Given the description of an element on the screen output the (x, y) to click on. 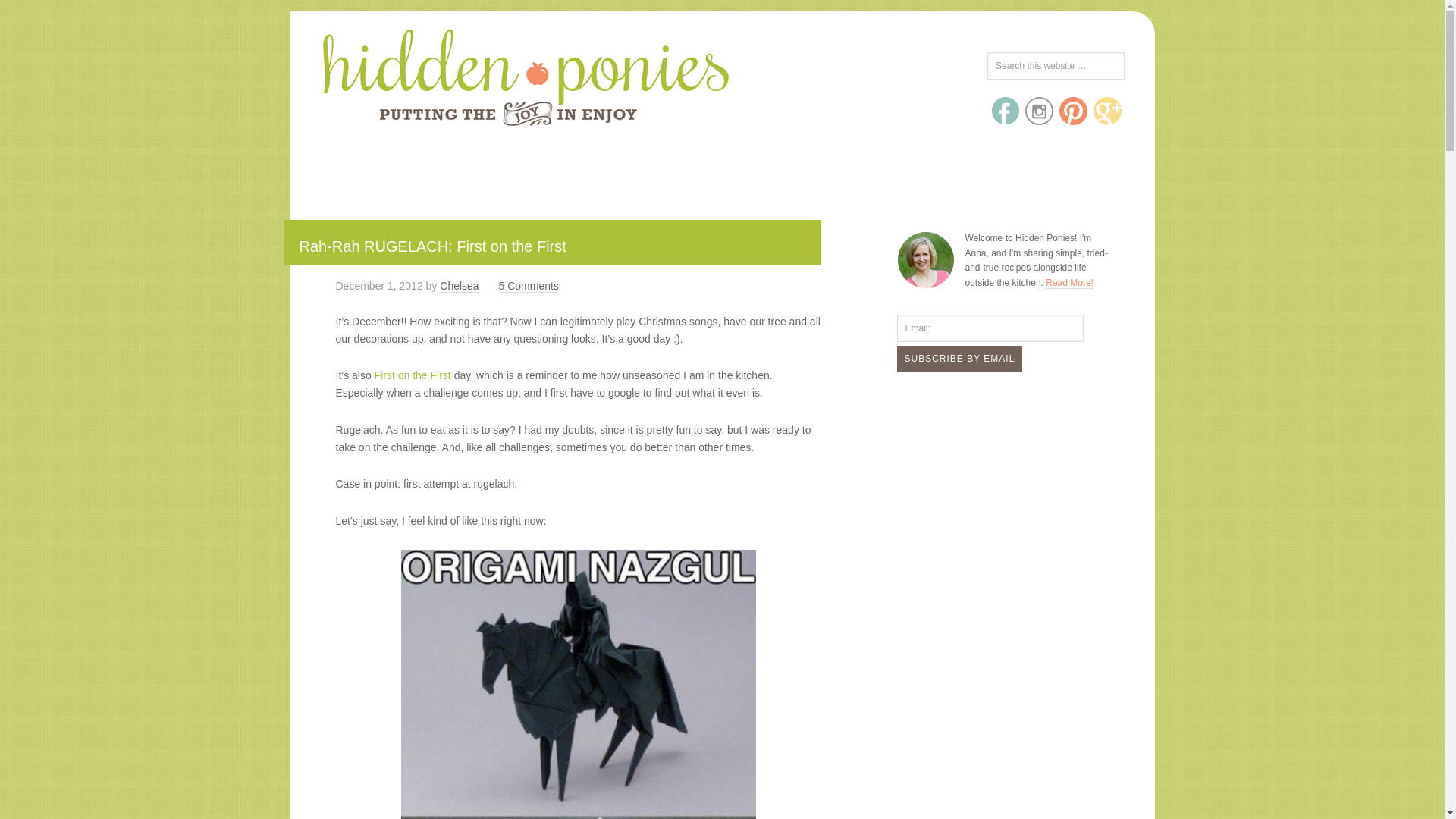
Subscribe by Email (959, 358)
THOUGHTS (879, 172)
HIDDEN PONIES (421, 73)
RECIPE INDEX (711, 172)
WORK WITH ME (984, 172)
HOME (439, 172)
5 Comments (529, 286)
ABOUT (502, 172)
FAMILY (799, 172)
